Given the description of an element on the screen output the (x, y) to click on. 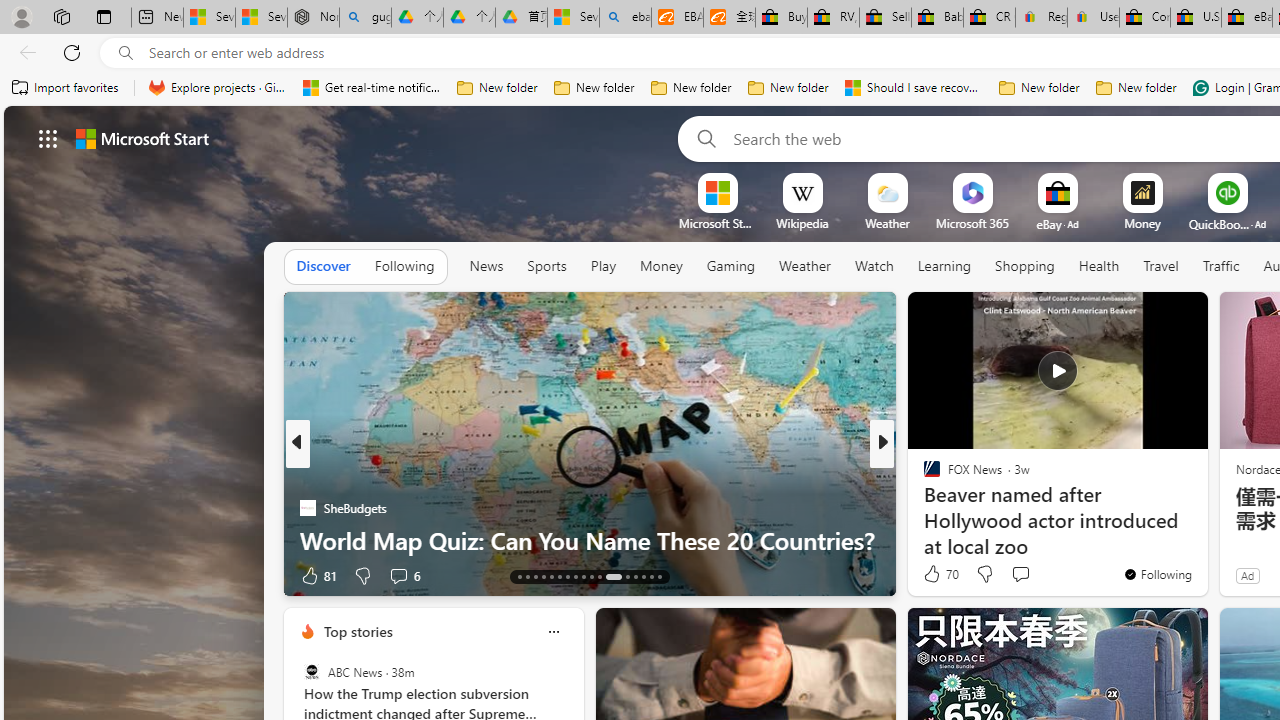
Sports (546, 267)
Register: Create a personal eBay account (1041, 17)
Dislike (984, 574)
Health (1098, 267)
AutomationID: tab-17 (550, 576)
Search icon (125, 53)
315 Like (936, 574)
Consumer Health Data Privacy Policy - eBay Inc. (1144, 17)
Buy Auto Parts & Accessories | eBay (781, 17)
guge yunpan - Search (365, 17)
Play (603, 267)
BRAINY DOSE (923, 475)
RV, Trailer & Camper Steps & Ladders for sale | eBay (832, 17)
Weather (804, 265)
